Given the description of an element on the screen output the (x, y) to click on. 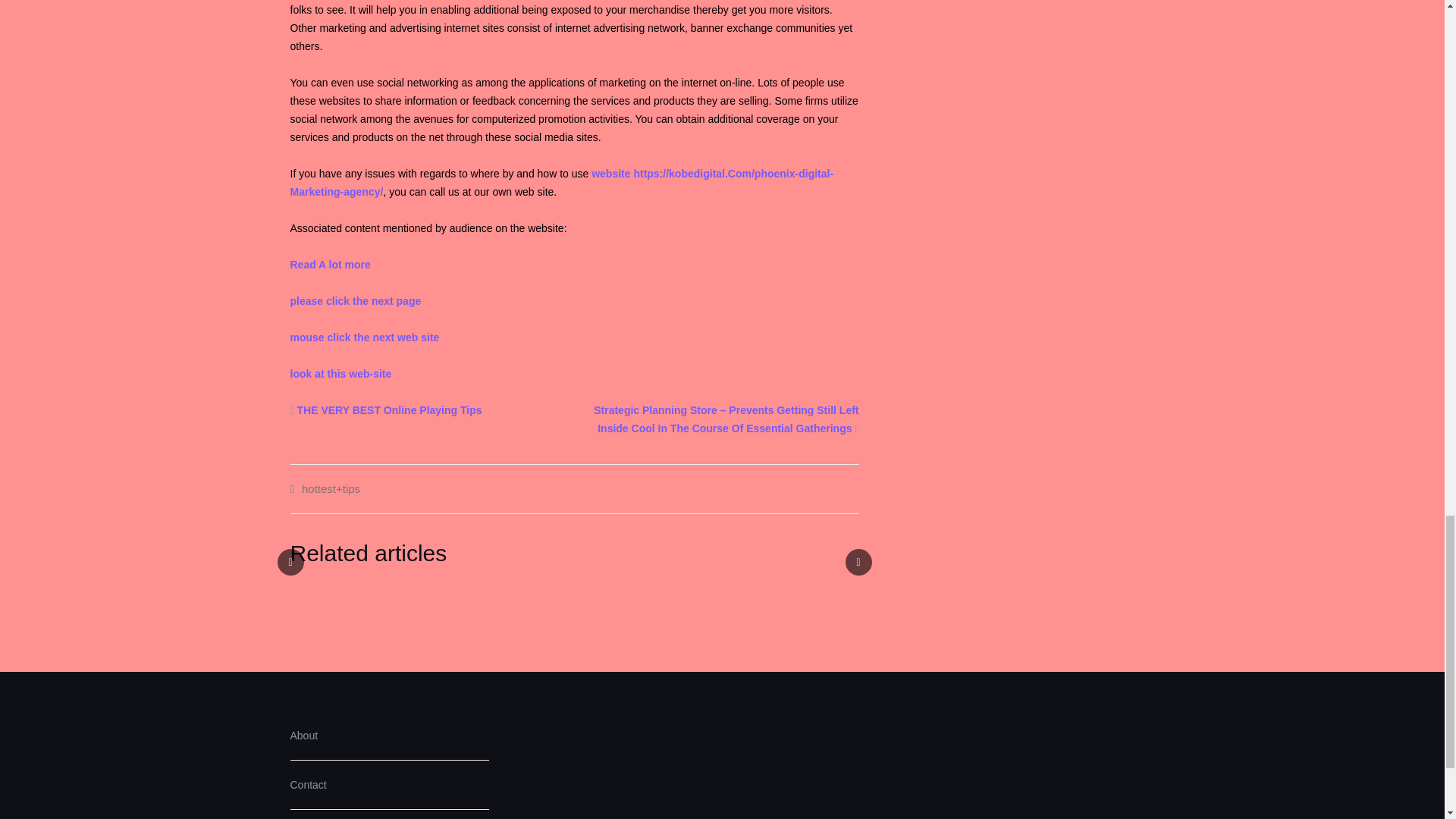
mouse click the next web site (364, 337)
THE VERY BEST Online Playing Tips (389, 410)
please click the next page (354, 300)
look at this web-site (340, 373)
Read A lot more (329, 264)
